Given the description of an element on the screen output the (x, y) to click on. 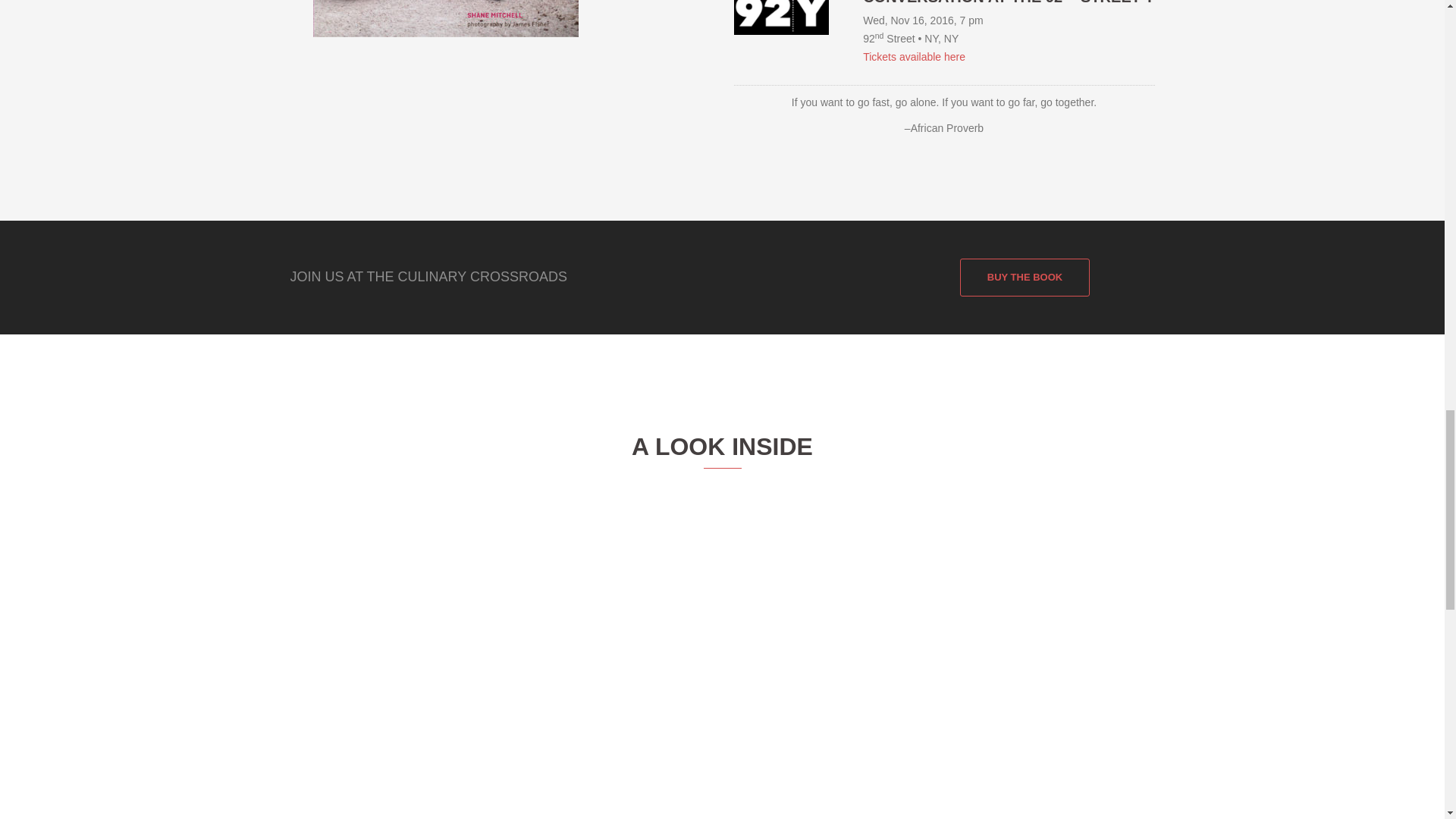
BUY THE BOOK (1024, 277)
Tickets available here (914, 56)
